Given the description of an element on the screen output the (x, y) to click on. 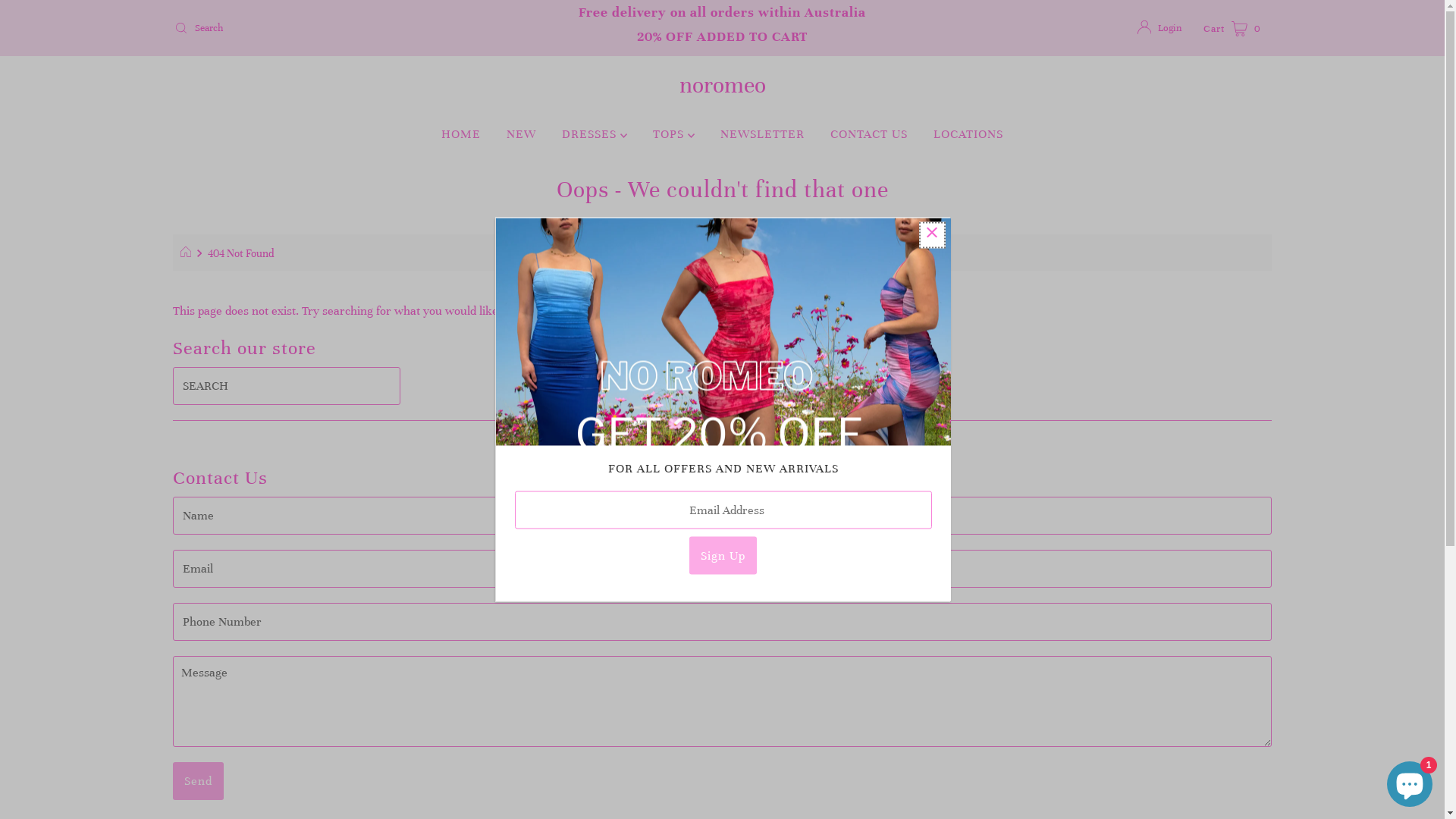
NEWSLETTER Element type: text (762, 134)
CONTACT US Element type: text (869, 134)
LOCATIONS Element type: text (968, 134)
NEW Element type: text (521, 134)
noromeo Element type: text (722, 85)
Send Element type: text (197, 781)
HOME Element type: text (460, 134)
Shopify online store chat Element type: hover (1409, 780)
Sign Up Element type: text (722, 555)
